Given the description of an element on the screen output the (x, y) to click on. 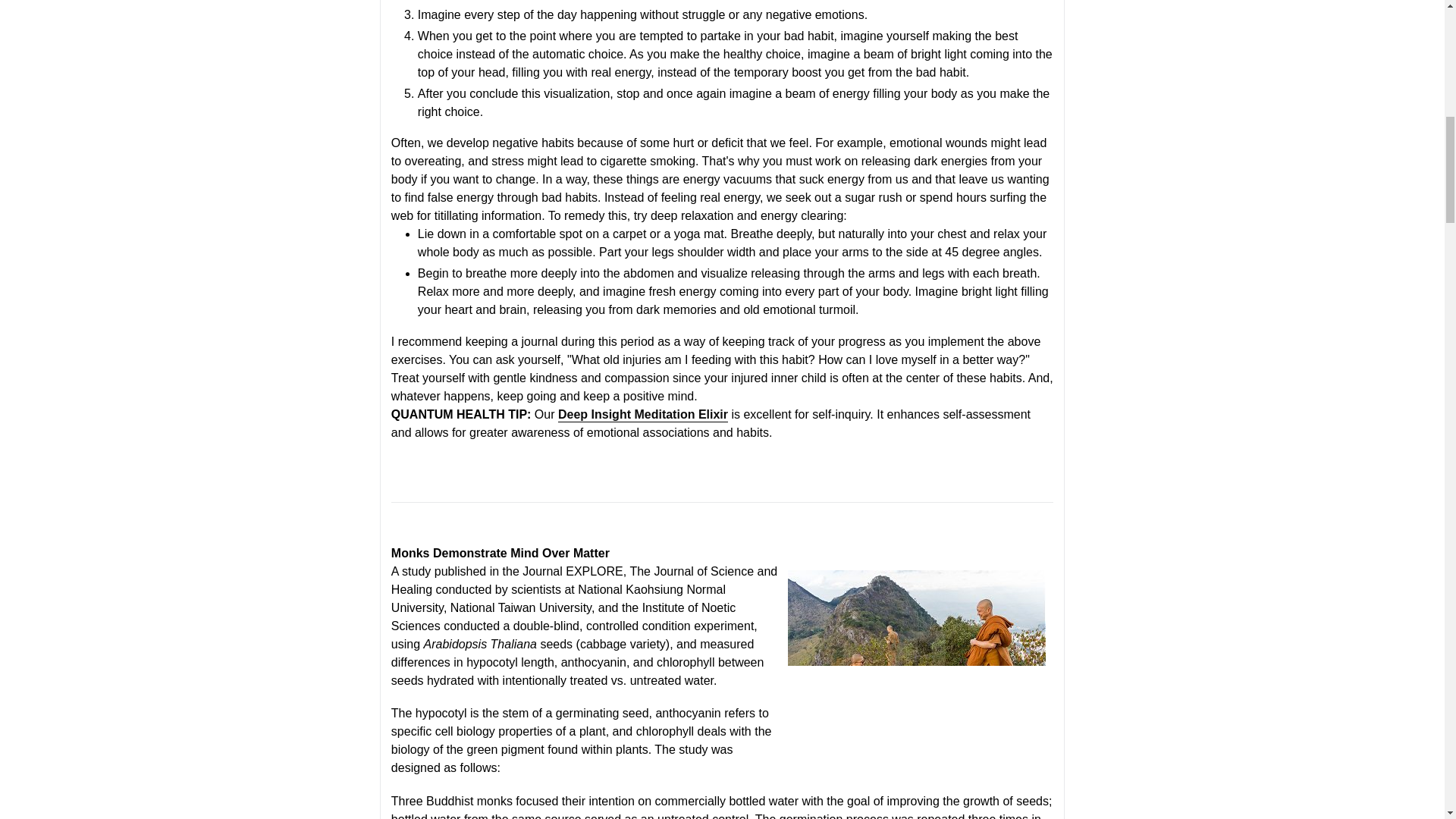
Monks demonstrate mind over matter. (916, 656)
